Given the description of an element on the screen output the (x, y) to click on. 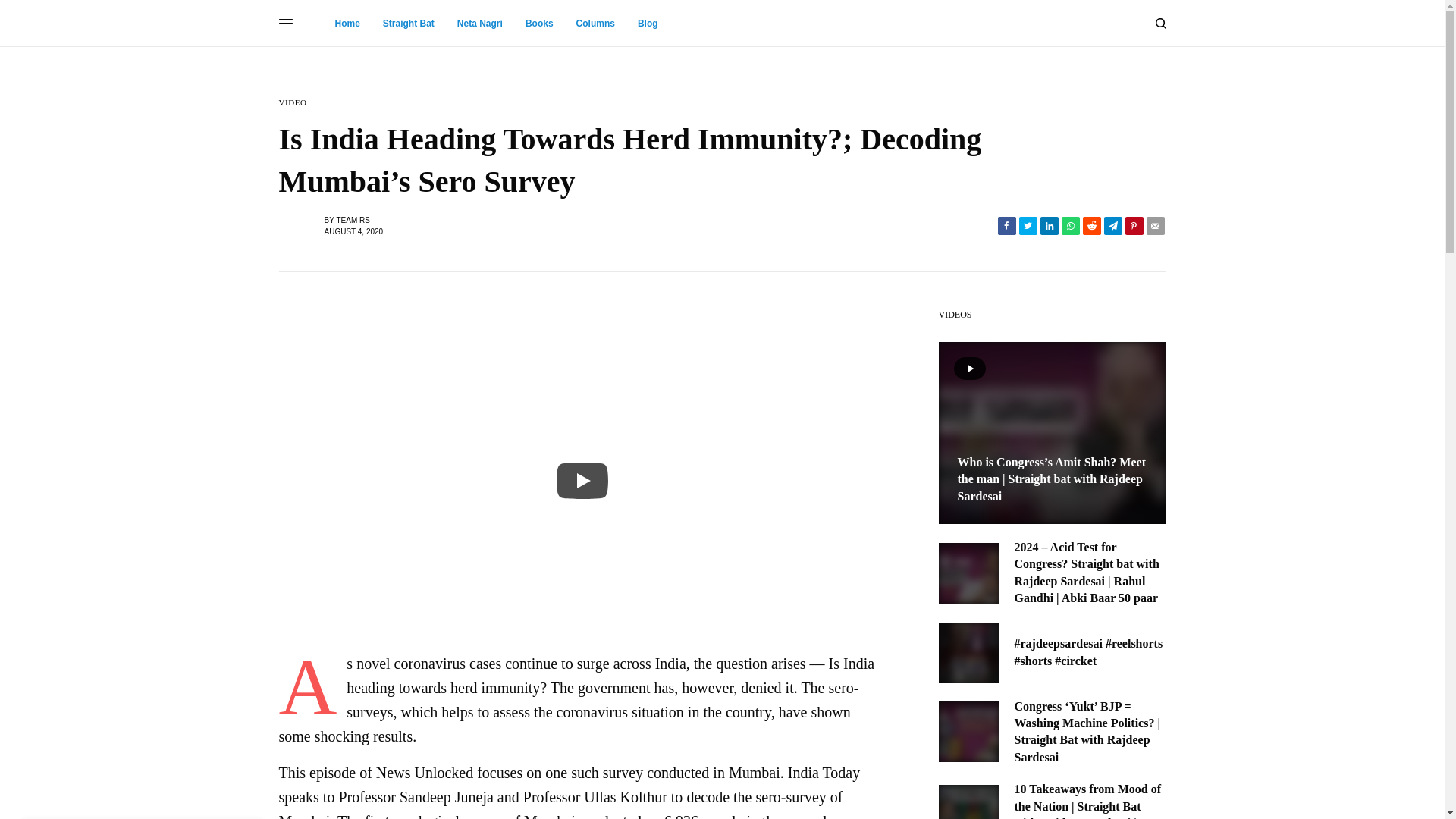
Posts by Team RS (352, 219)
Neta Nagri (479, 22)
Straight Bat (407, 22)
VIDEO (293, 102)
TEAM RS (352, 219)
